Given the description of an element on the screen output the (x, y) to click on. 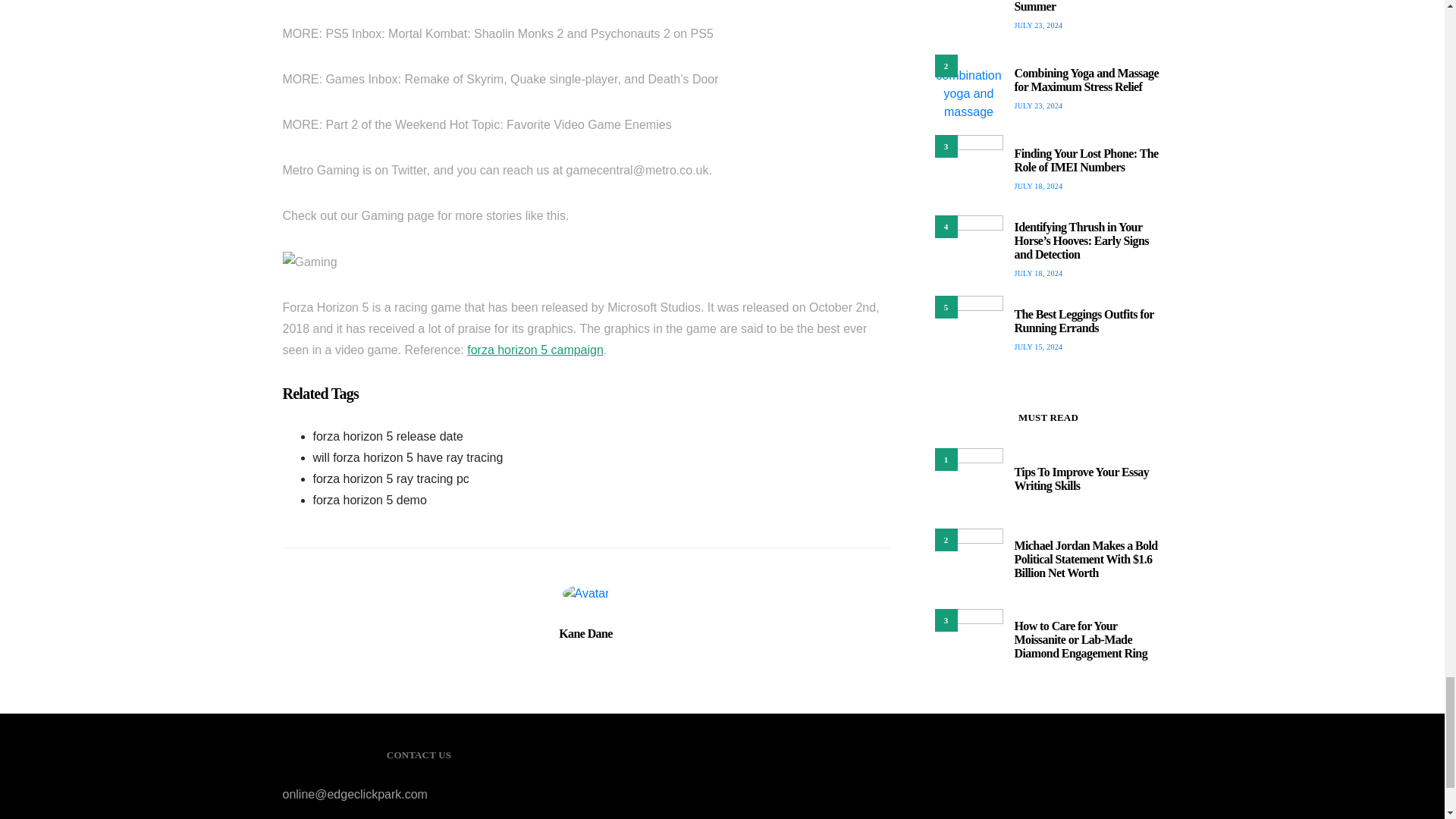
Kane Dane (585, 633)
forza horizon 5 campaign (535, 349)
